Given the description of an element on the screen output the (x, y) to click on. 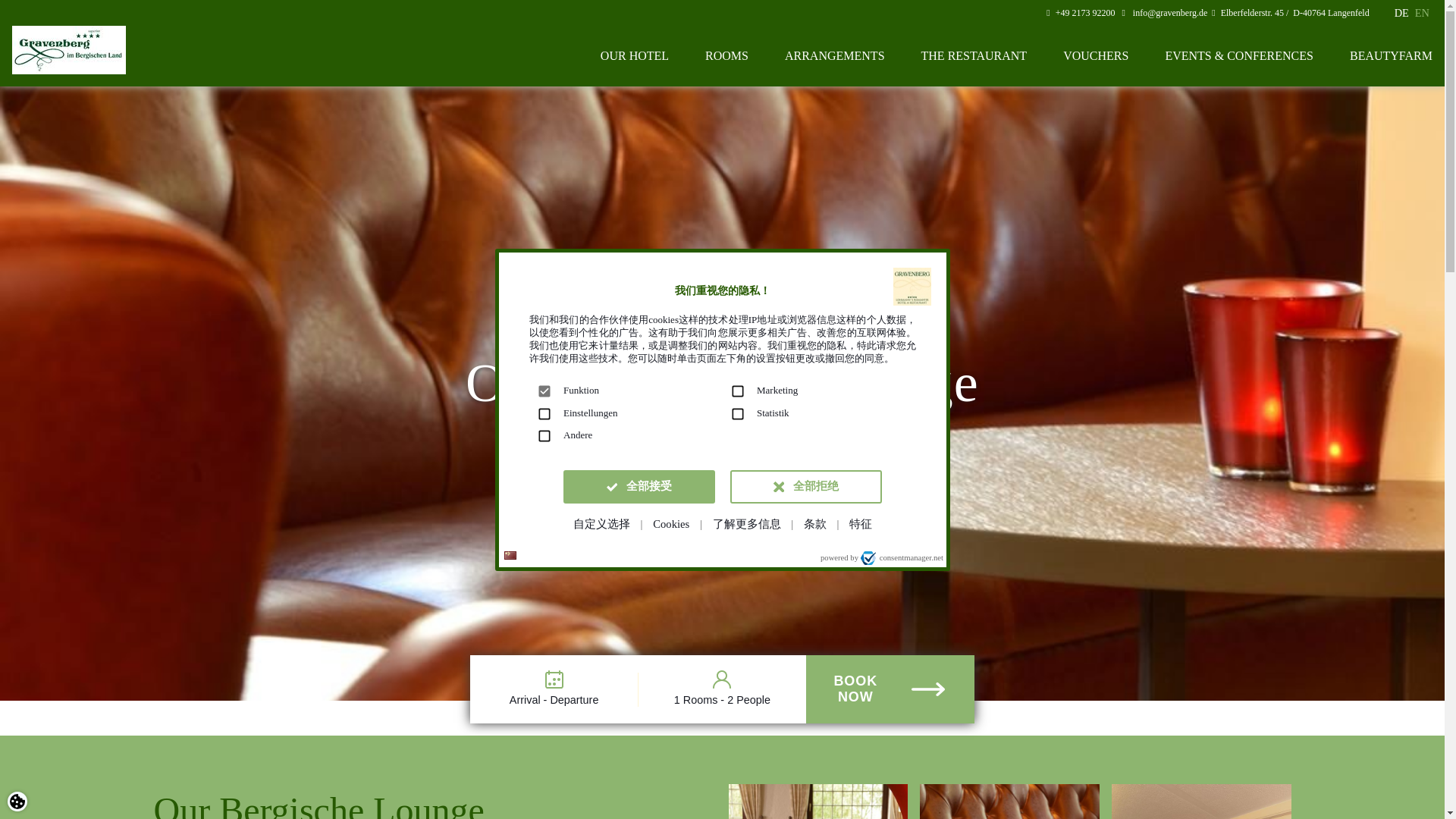
ROOMS (726, 55)
consentmanager.net (901, 557)
Language: zh (509, 555)
Language: zh (509, 555)
VOUCHERS (1095, 55)
OUR HOTEL (634, 55)
ARRANGEMENTS (834, 55)
Cookies (671, 524)
THE RESTAURANT (973, 55)
